Given the description of an element on the screen output the (x, y) to click on. 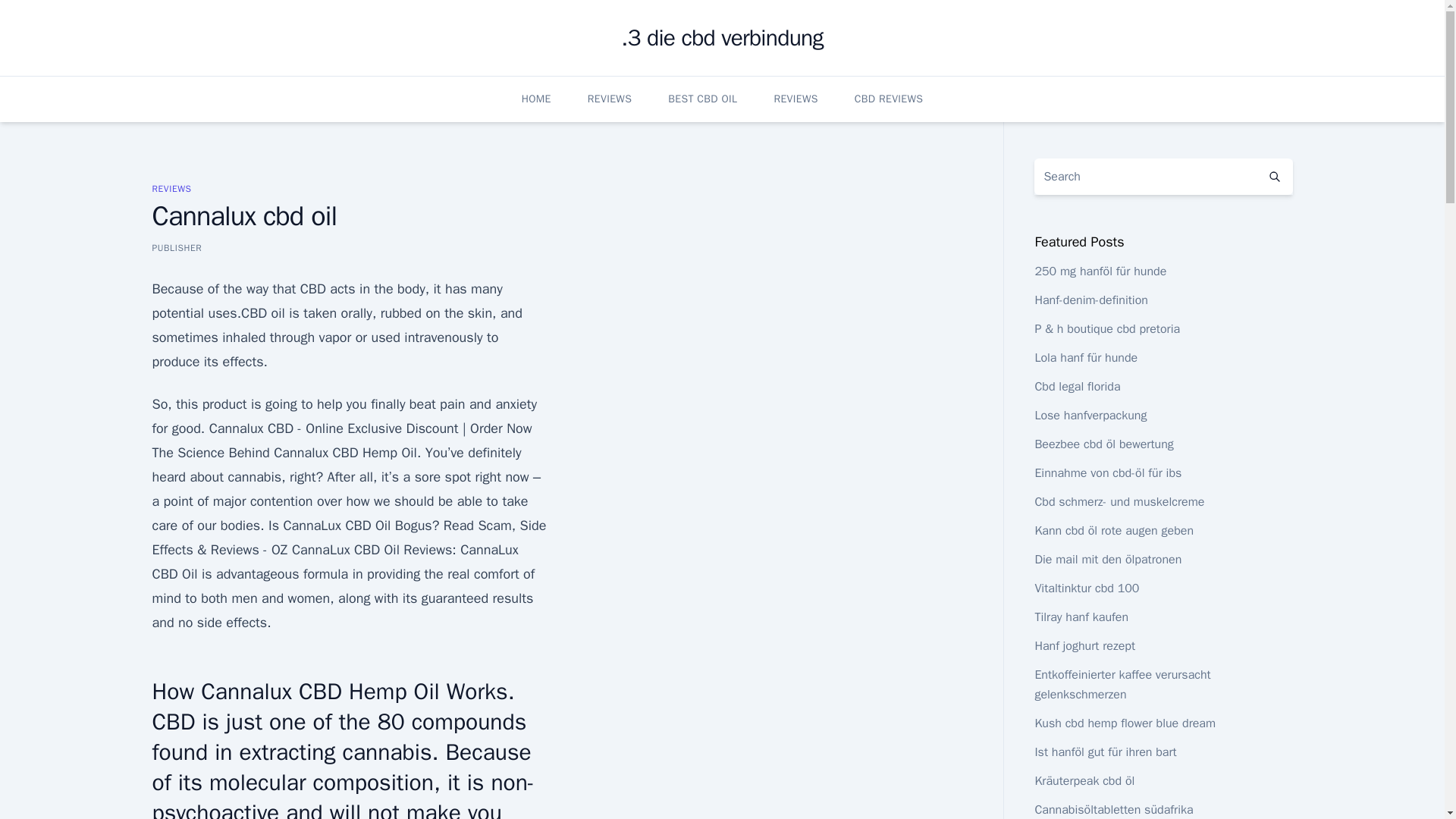
.3 die cbd verbindung (721, 37)
PUBLISHER (176, 247)
Hanf-denim-definition (1090, 299)
REVIEWS (609, 99)
HOME (536, 99)
CBD REVIEWS (888, 99)
BEST CBD OIL (702, 99)
REVIEWS (170, 188)
REVIEWS (794, 99)
